Given the description of an element on the screen output the (x, y) to click on. 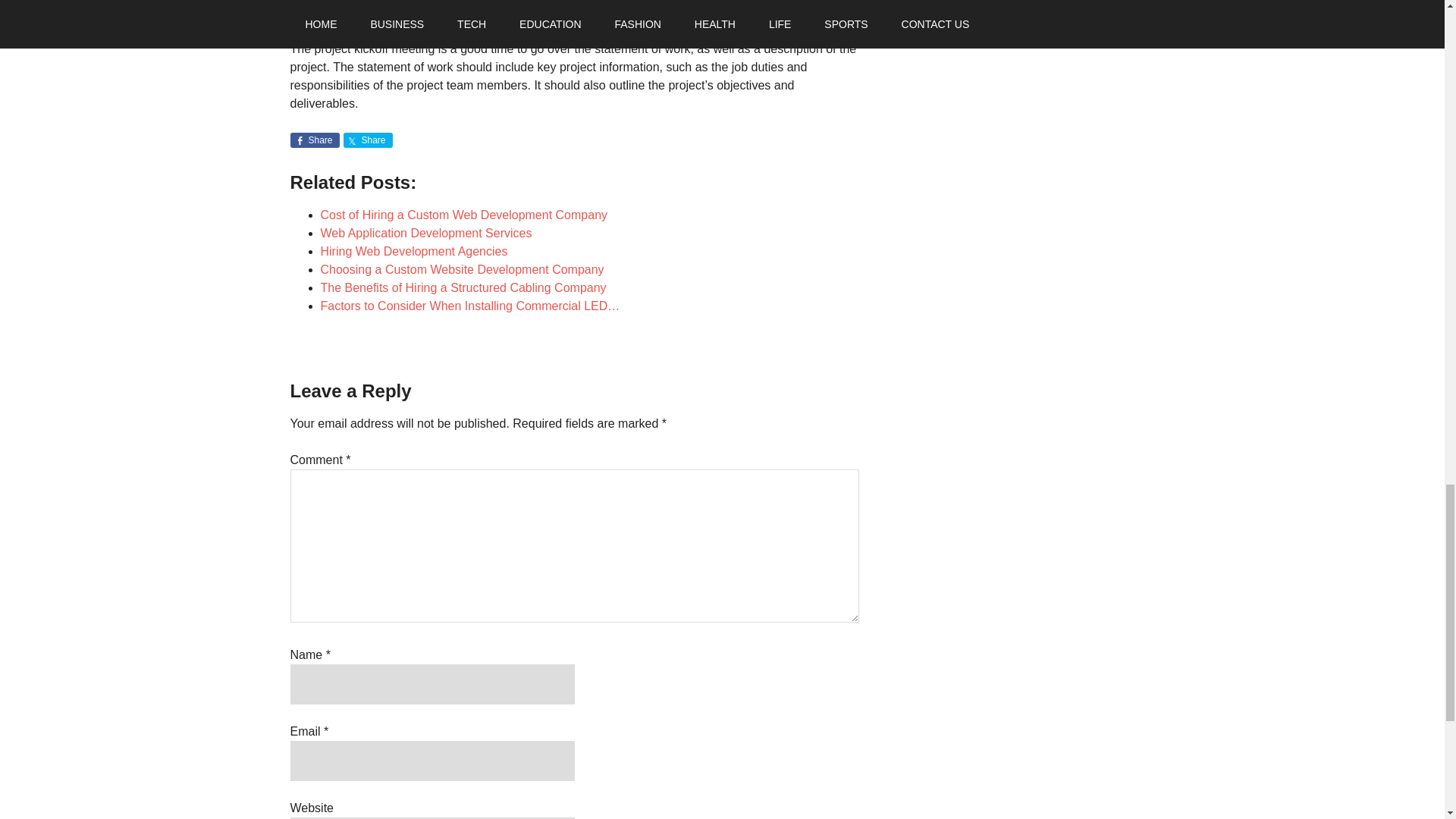
The Benefits of Hiring a Structured Cabling Company (462, 287)
Hiring Web Development Agencies (413, 250)
Share (314, 140)
Web Application Development Services (425, 232)
Cost of Hiring a Custom Web Development Company (463, 214)
Share (366, 140)
Choosing a Custom Website Development Company (462, 269)
